Given the description of an element on the screen output the (x, y) to click on. 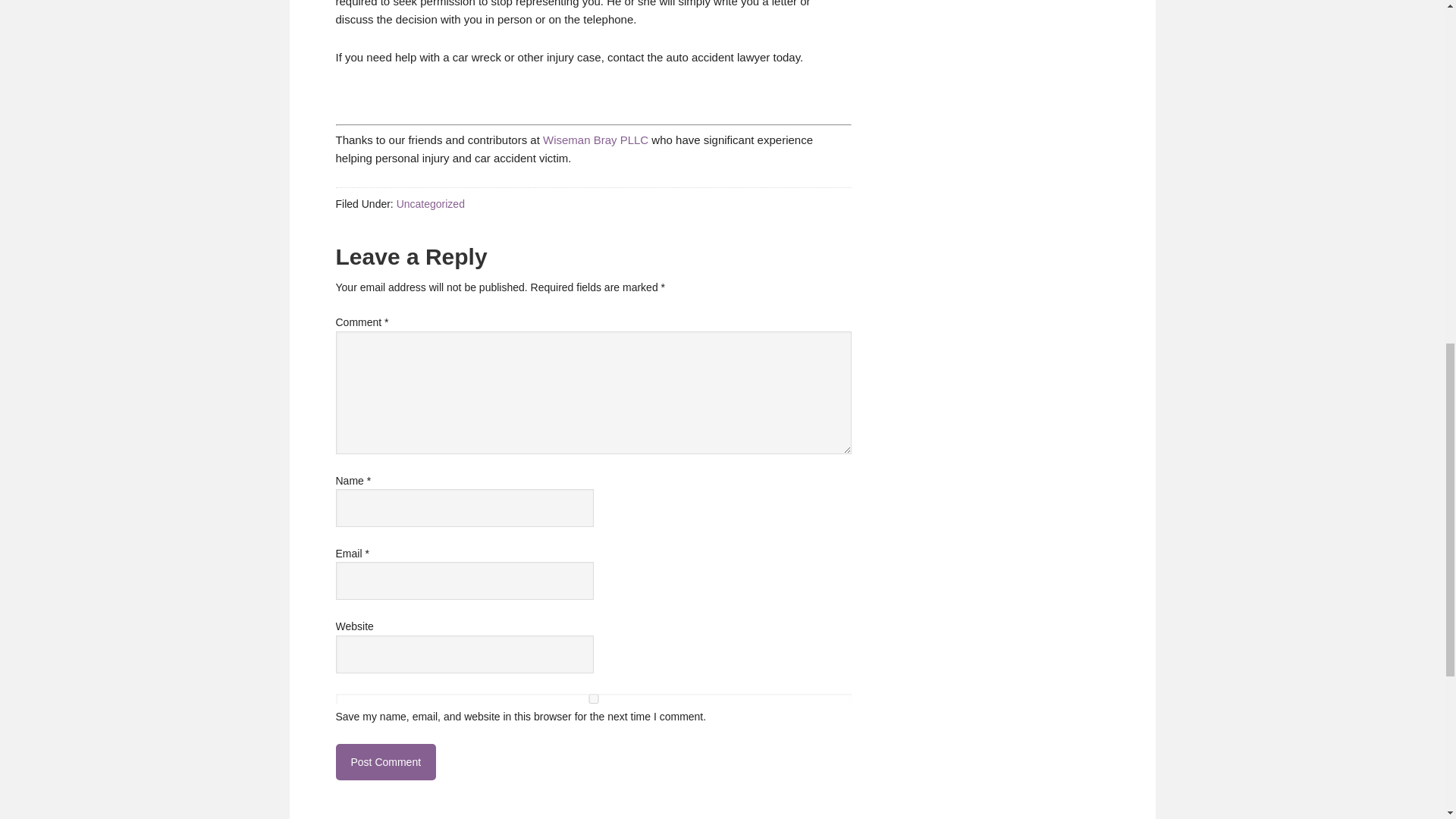
Wiseman Bray PLLC (595, 139)
Post Comment (384, 761)
Post Comment (384, 761)
Uncategorized (430, 203)
yes (592, 698)
